Given the description of an element on the screen output the (x, y) to click on. 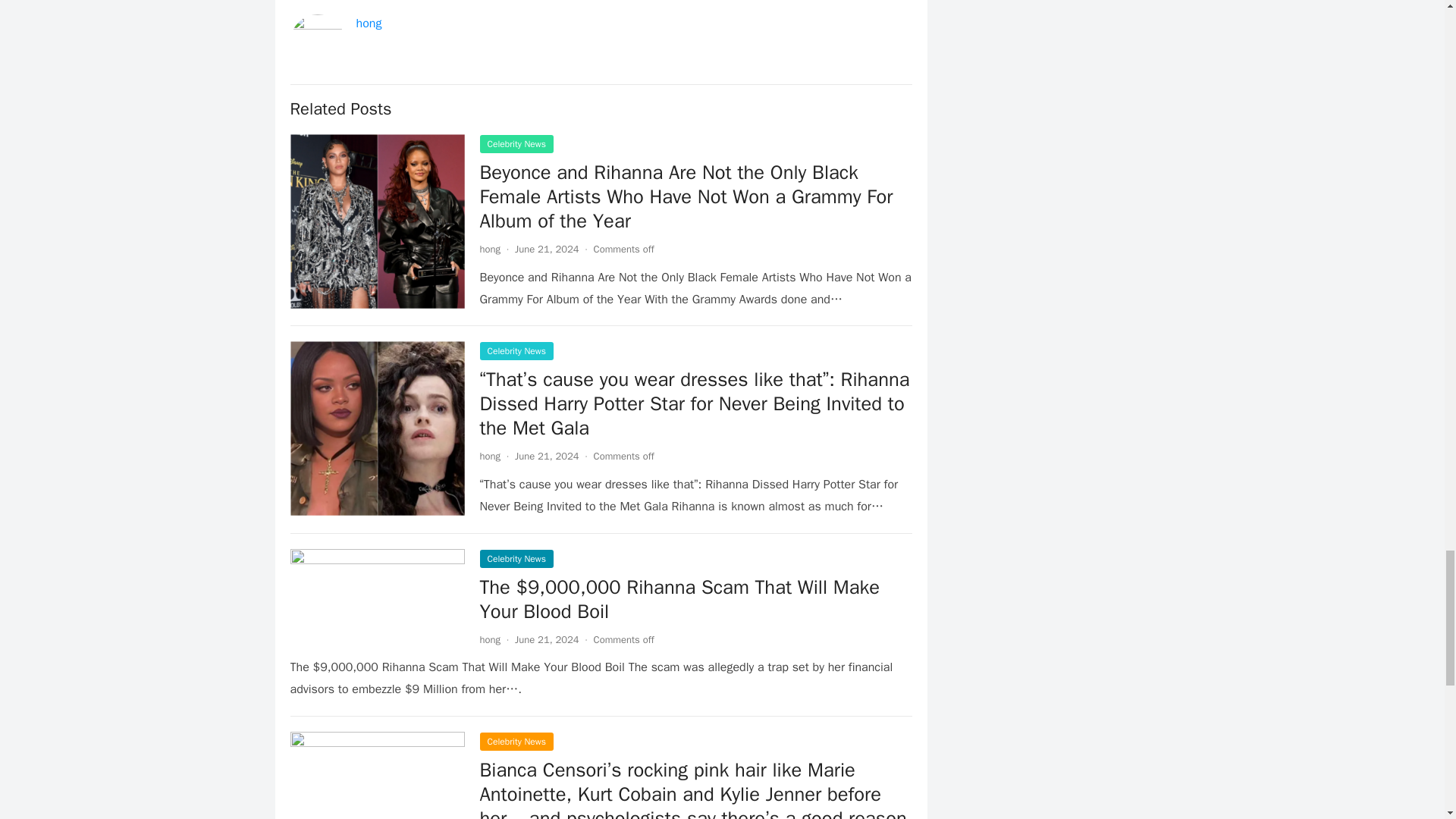
Posts by hong (489, 639)
hong (489, 248)
Celebrity News (516, 144)
Celebrity News (516, 351)
hong (368, 23)
hong (489, 455)
Posts by hong (489, 455)
Posts by hong (489, 248)
